Given the description of an element on the screen output the (x, y) to click on. 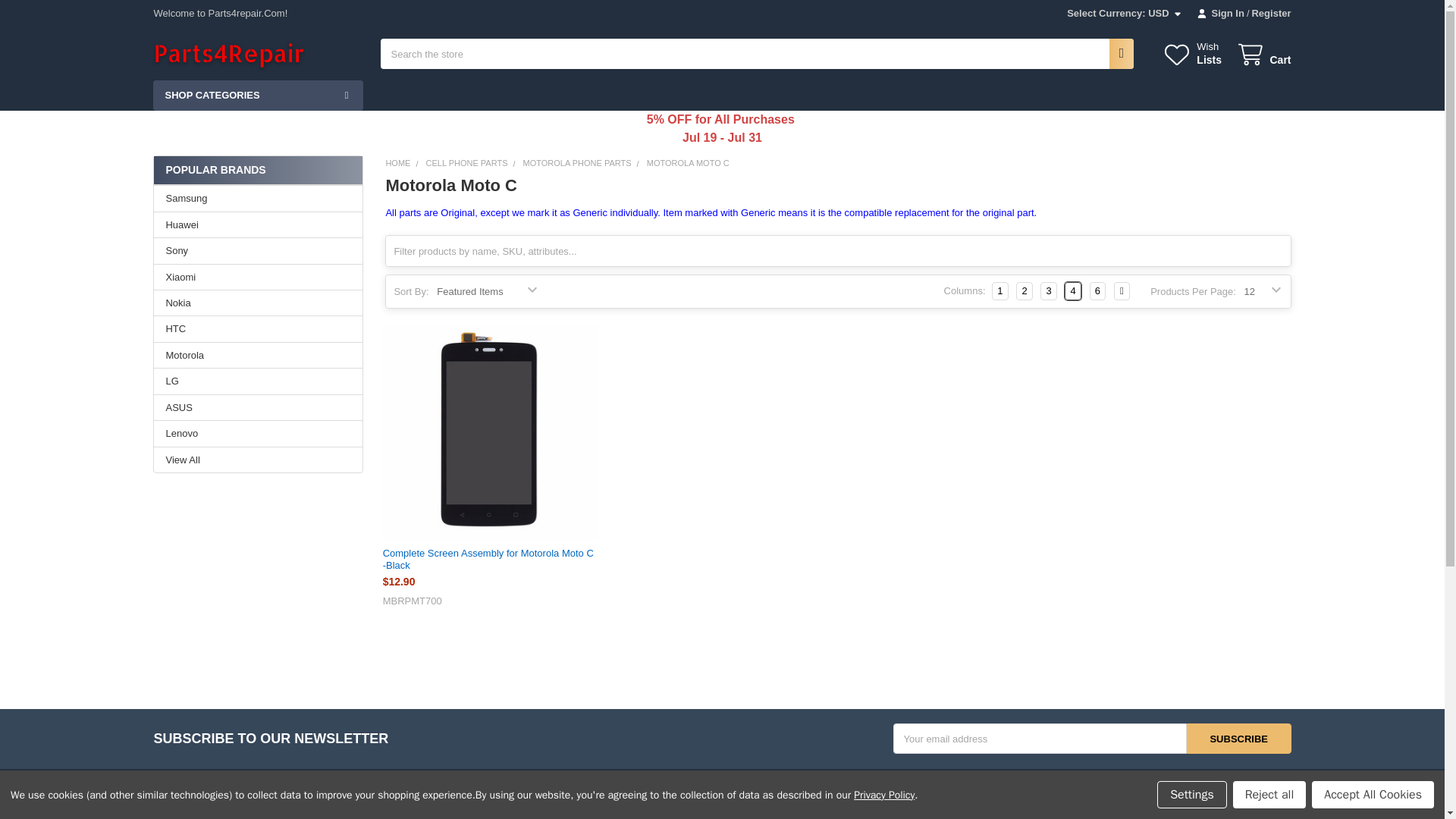
LG (257, 381)
Motorola (257, 355)
Huawei (257, 224)
SHOP CATEGORIES (257, 94)
Sony (257, 250)
Cart (1263, 54)
Sign In (1220, 13)
Wish Lists (1192, 53)
Nokia (257, 303)
Subscribe (1238, 738)
